Given the description of an element on the screen output the (x, y) to click on. 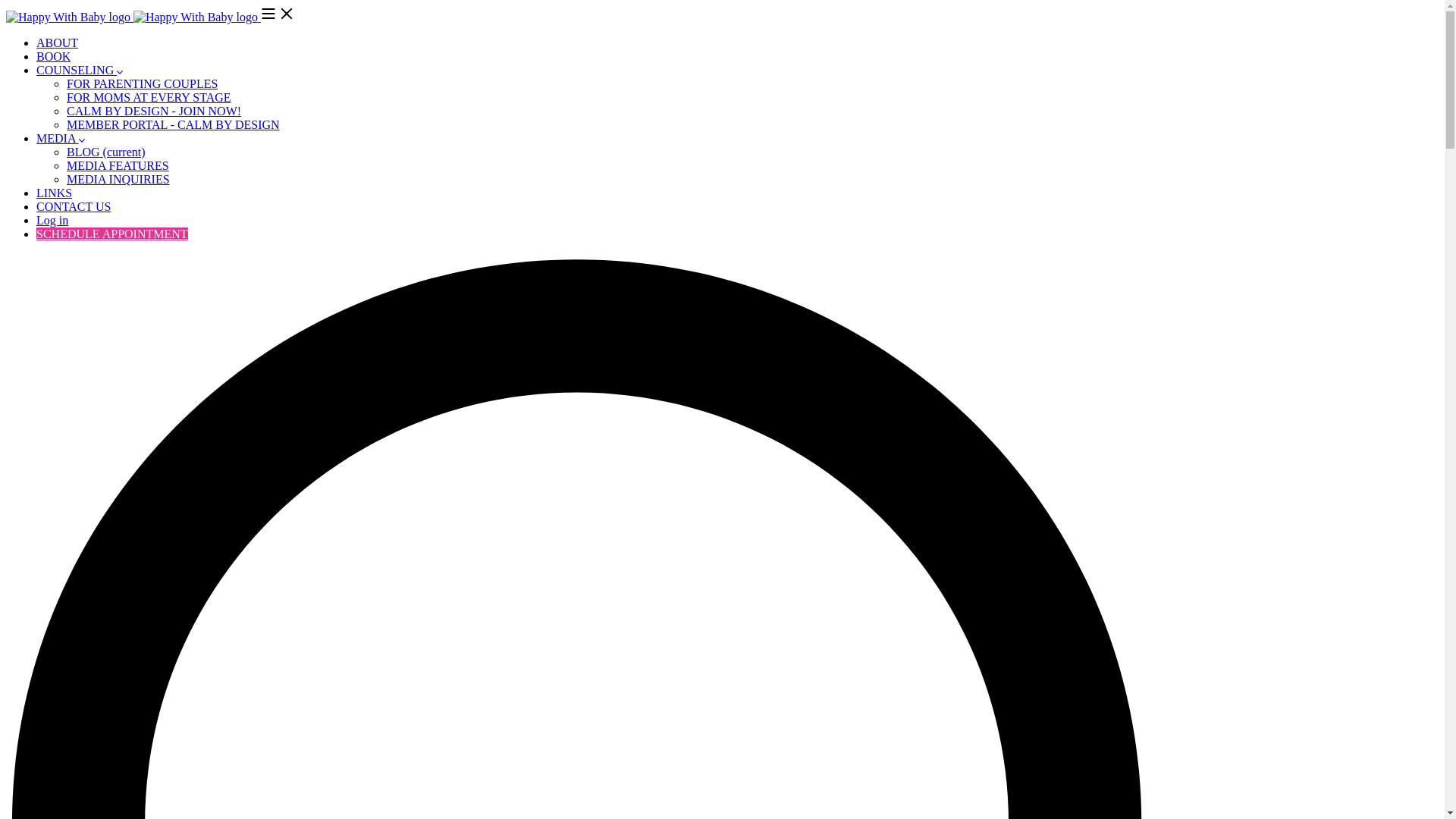
Log in (52, 219)
ABOUT (57, 42)
BOOK (52, 56)
CALM BY DESIGN - JOIN NOW! (153, 110)
FOR PARENTING COUPLES (141, 83)
COUNSELING (79, 69)
MEDIA (60, 137)
MEDIA INQUIRIES (118, 178)
SCHEDULE APPOINTMENT (111, 233)
MEMBER PORTAL - CALM BY DESIGN (172, 124)
CONTACT US (73, 205)
FOR MOMS AT EVERY STAGE (148, 97)
MEDIA FEATURES (117, 164)
LINKS (53, 192)
